Given the description of an element on the screen output the (x, y) to click on. 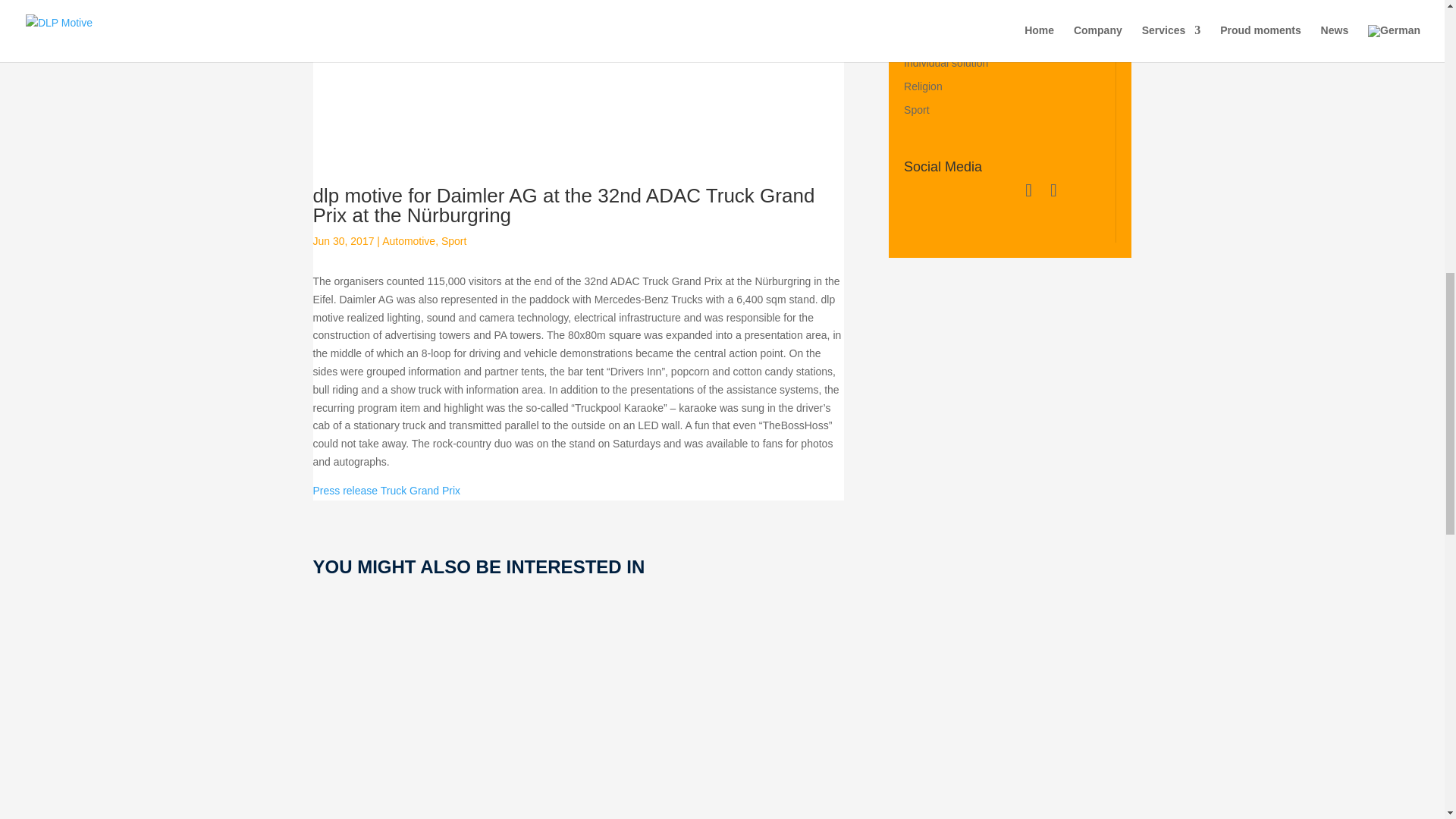
Individual solution (946, 62)
Religion (923, 86)
Automotive (408, 241)
Sport (453, 241)
Press release Truck Grand Prix (386, 490)
Generally (926, 39)
Sport (916, 110)
Gala (915, 15)
